Given the description of an element on the screen output the (x, y) to click on. 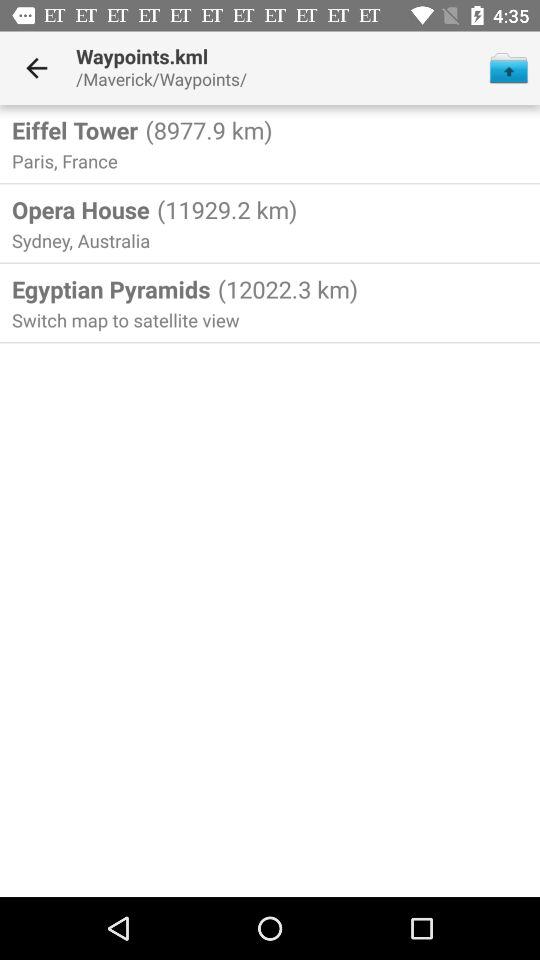
turn on icon next to  (11929.2 km) (80, 209)
